Given the description of an element on the screen output the (x, y) to click on. 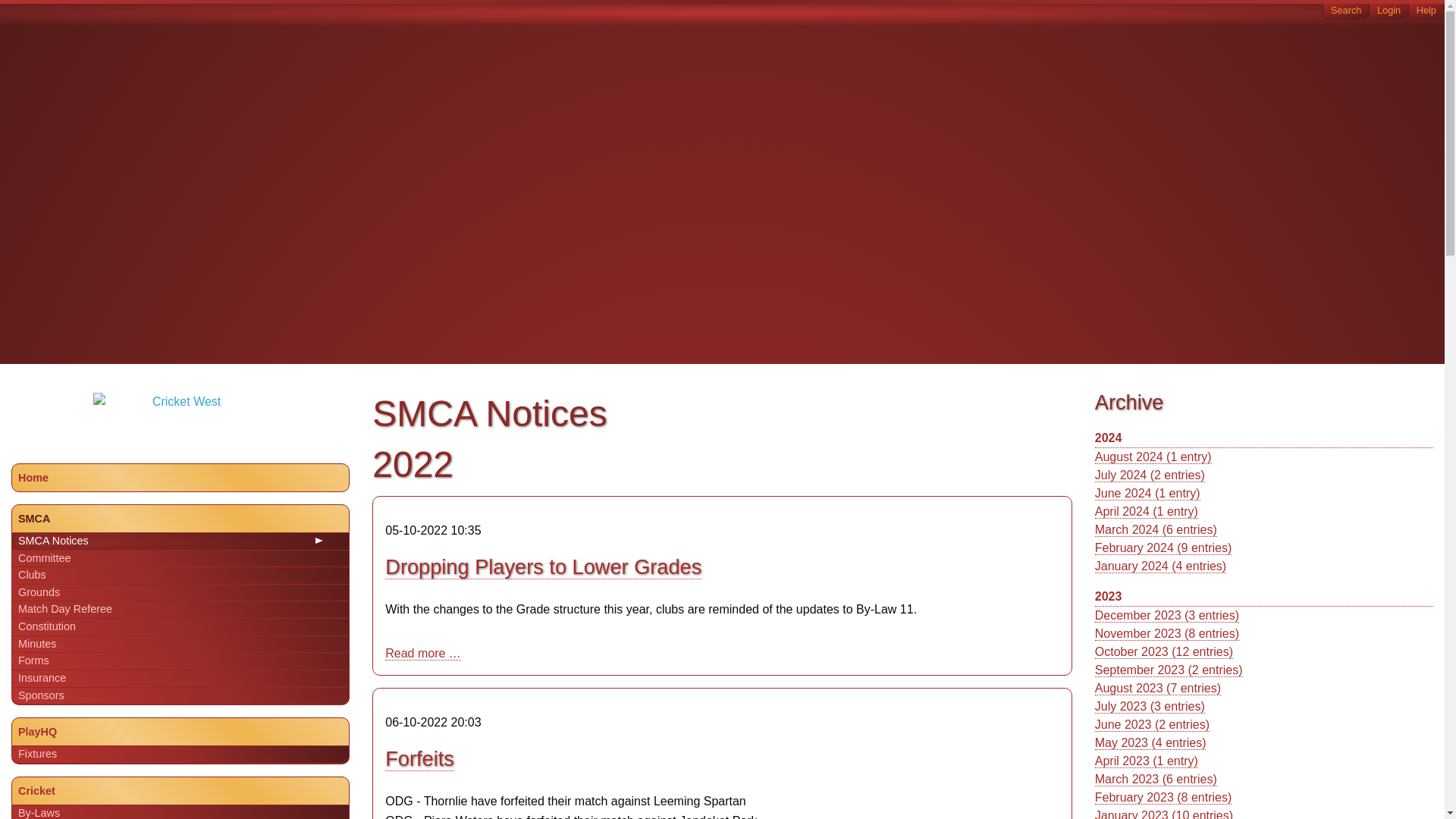
Search this website (1346, 11)
Forfeits (419, 758)
2024 (1263, 438)
Read the article: Dropping Players to Lower Grades (423, 653)
Login (1388, 11)
Dropping Players to Lower Grades (543, 567)
Skip navigation (8, 6)
Read the article: Dropping Players to Lower Grades (543, 567)
2023 (1263, 597)
Search (1346, 11)
